Given the description of an element on the screen output the (x, y) to click on. 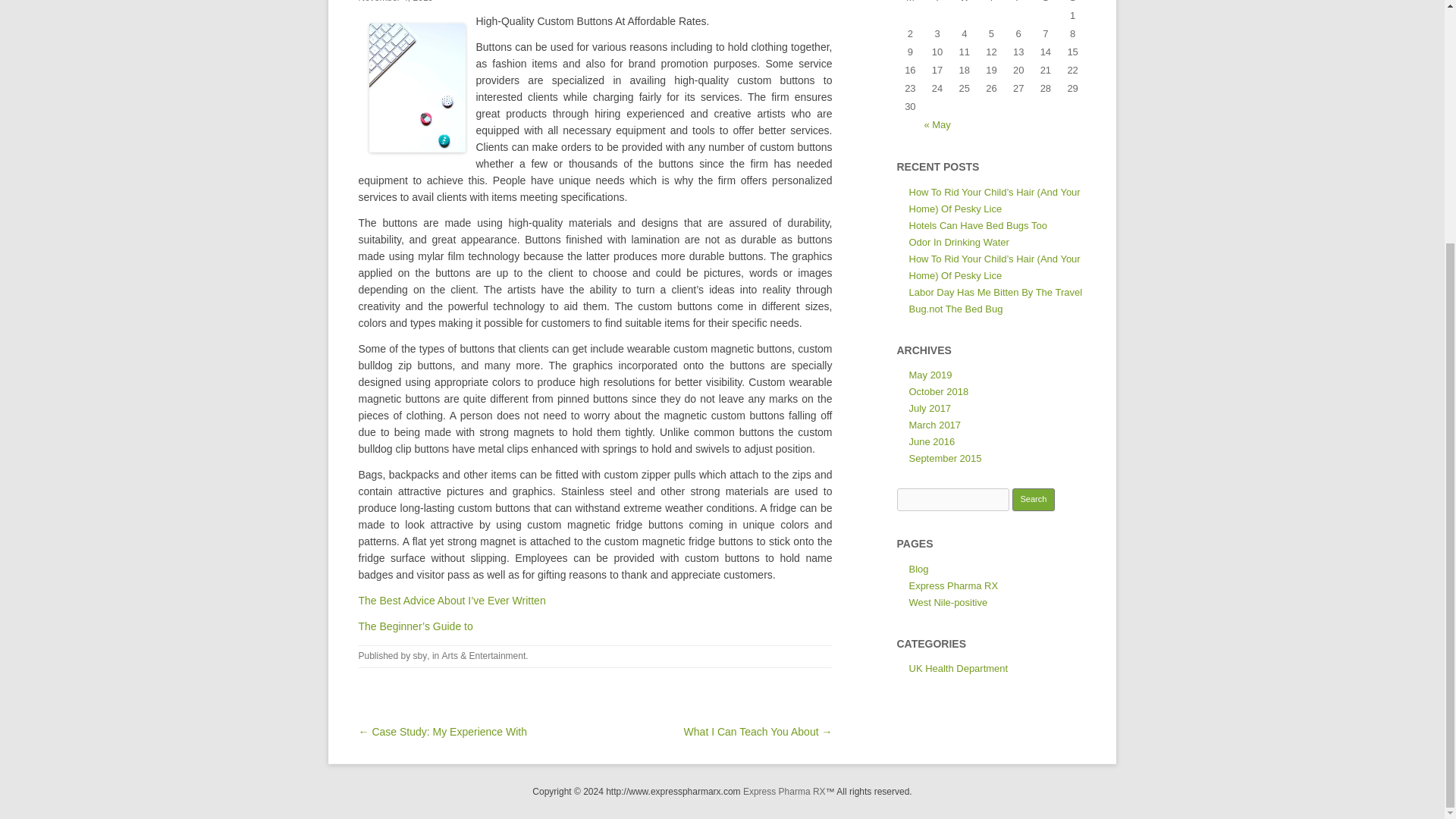
Search (1033, 499)
Odor In Drinking Water (958, 242)
Monday (909, 3)
Express Pharma RX (952, 585)
November 4, 2019 (395, 1)
Sunday (1072, 3)
Hotels Can Have Bed Bugs Too (977, 225)
Express Pharma RX (783, 791)
View all posts by sby (420, 655)
Blog (918, 568)
